Given the description of an element on the screen output the (x, y) to click on. 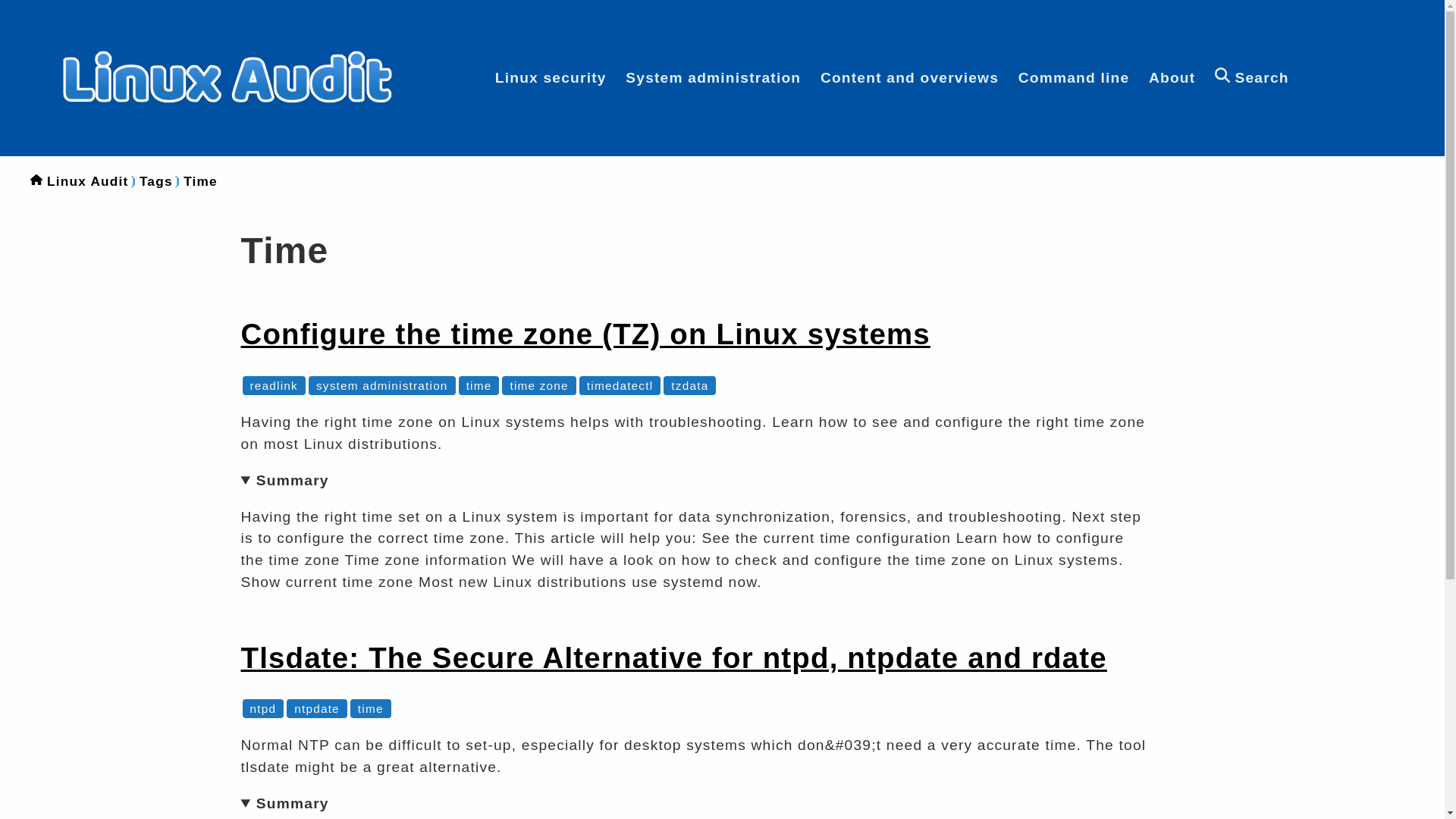
Command line (1073, 77)
system administration (381, 385)
Time (199, 181)
Content and overviews (909, 77)
time zone (538, 385)
Linux Audit (87, 181)
Linux security (549, 77)
readlink (274, 385)
Tags (156, 181)
System administration (712, 77)
About (1171, 77)
time (478, 385)
timedatectl (619, 385)
tzdata (689, 385)
Search (1251, 77)
